Given the description of an element on the screen output the (x, y) to click on. 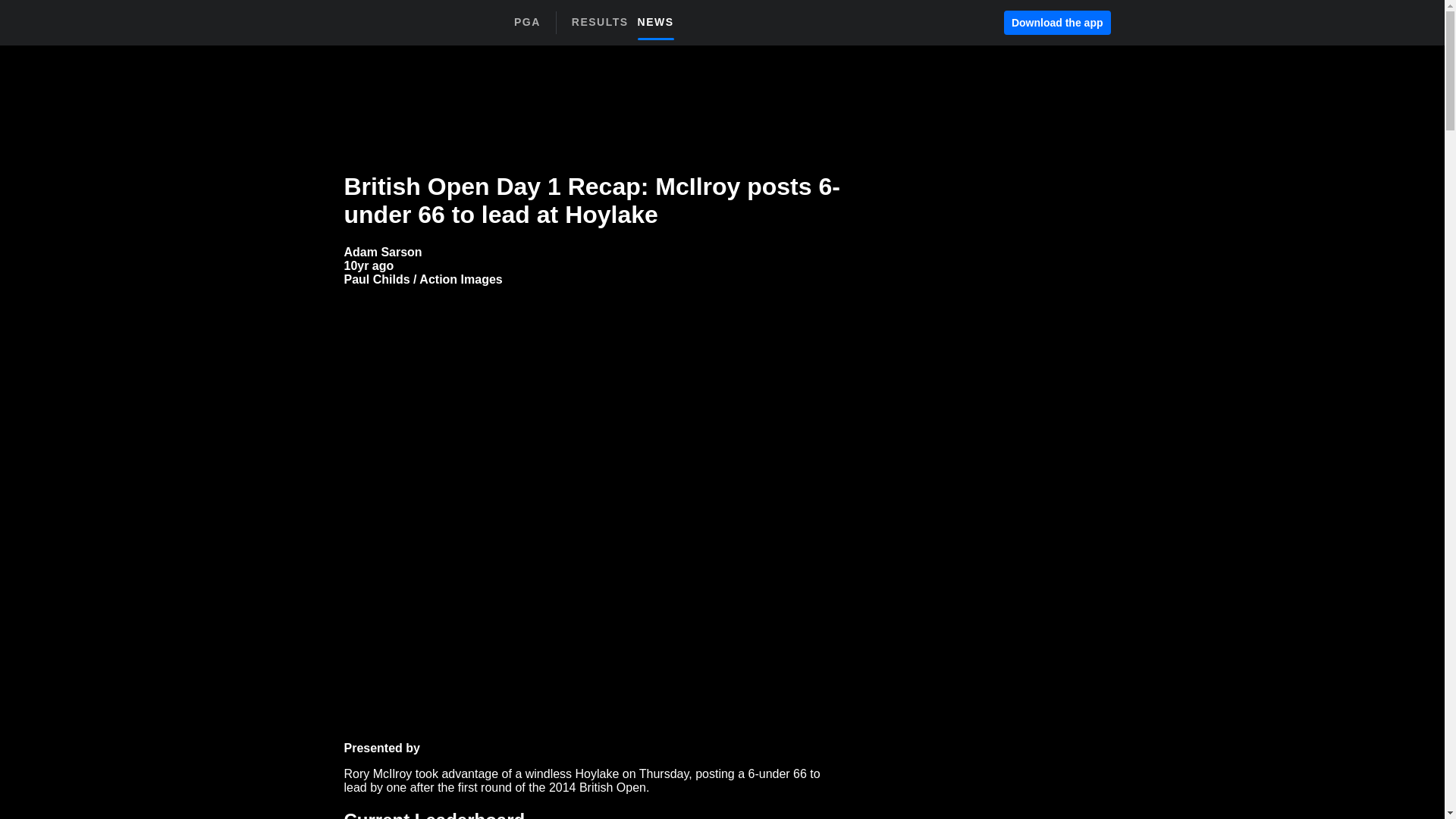
RESULTS (604, 21)
2014-07-17T19:49:30.000Z (368, 265)
PGA (526, 22)
NEWS (627, 26)
Download the app (659, 21)
Adam Sarson (1057, 22)
